Given the description of an element on the screen output the (x, y) to click on. 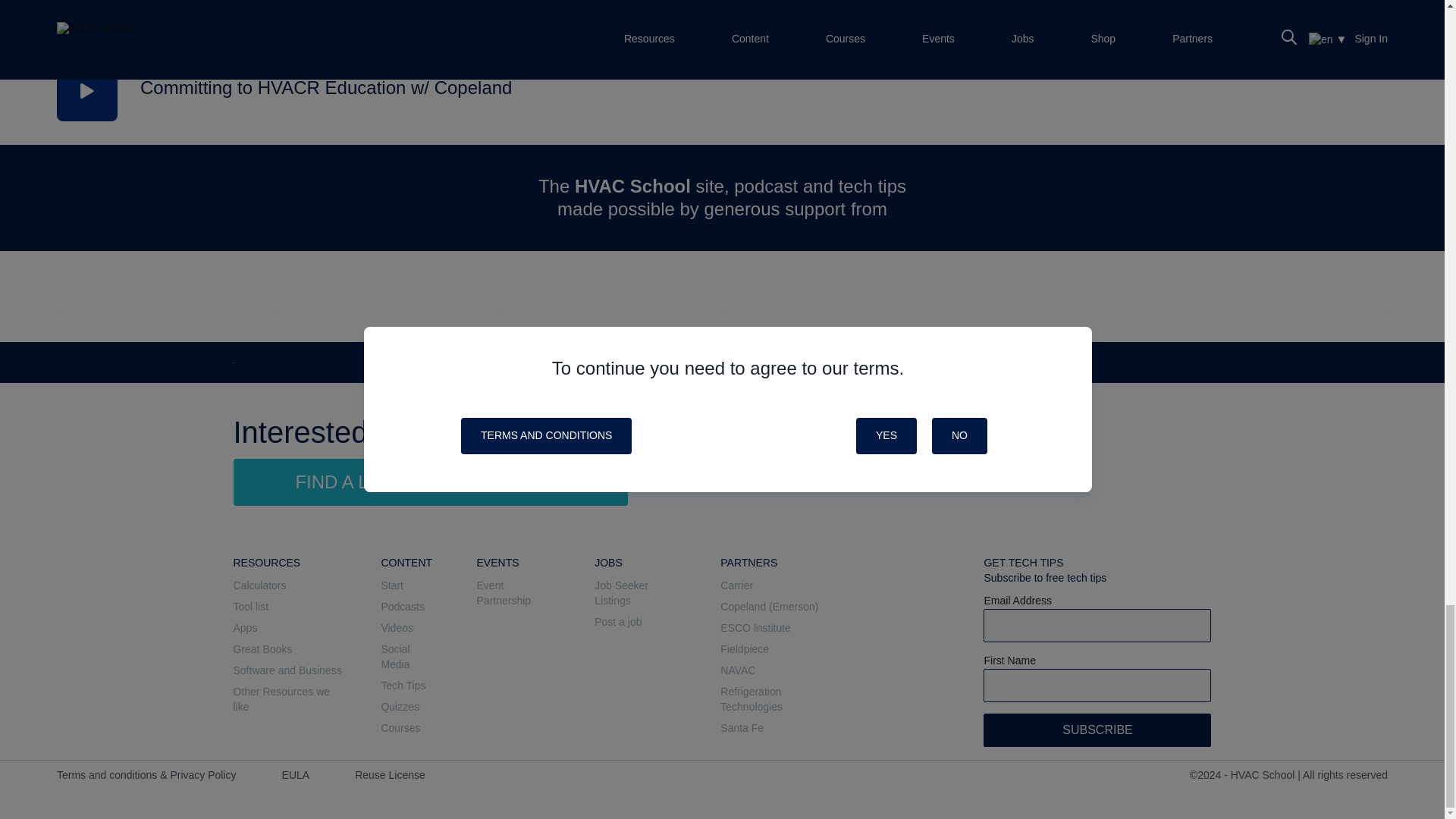
Subscribe (1097, 729)
